Given the description of an element on the screen output the (x, y) to click on. 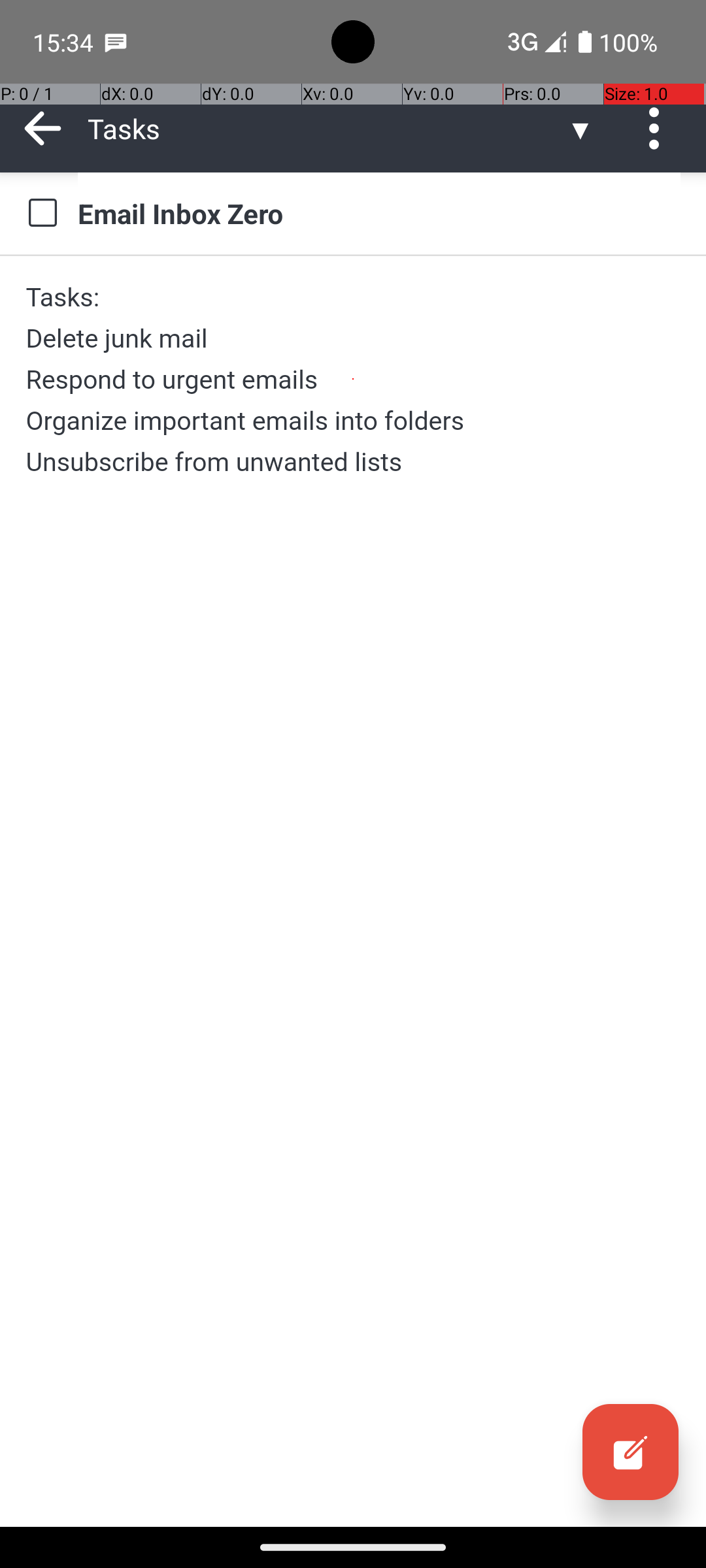
Email Inbox Zero Element type: android.widget.EditText (378, 213)
Tasks:
Delete junk mail
Respond to urgent emails
Organize important emails into folders
Unsubscribe from unwanted lists Element type: android.widget.TextView (352, 379)
